Given the description of an element on the screen output the (x, y) to click on. 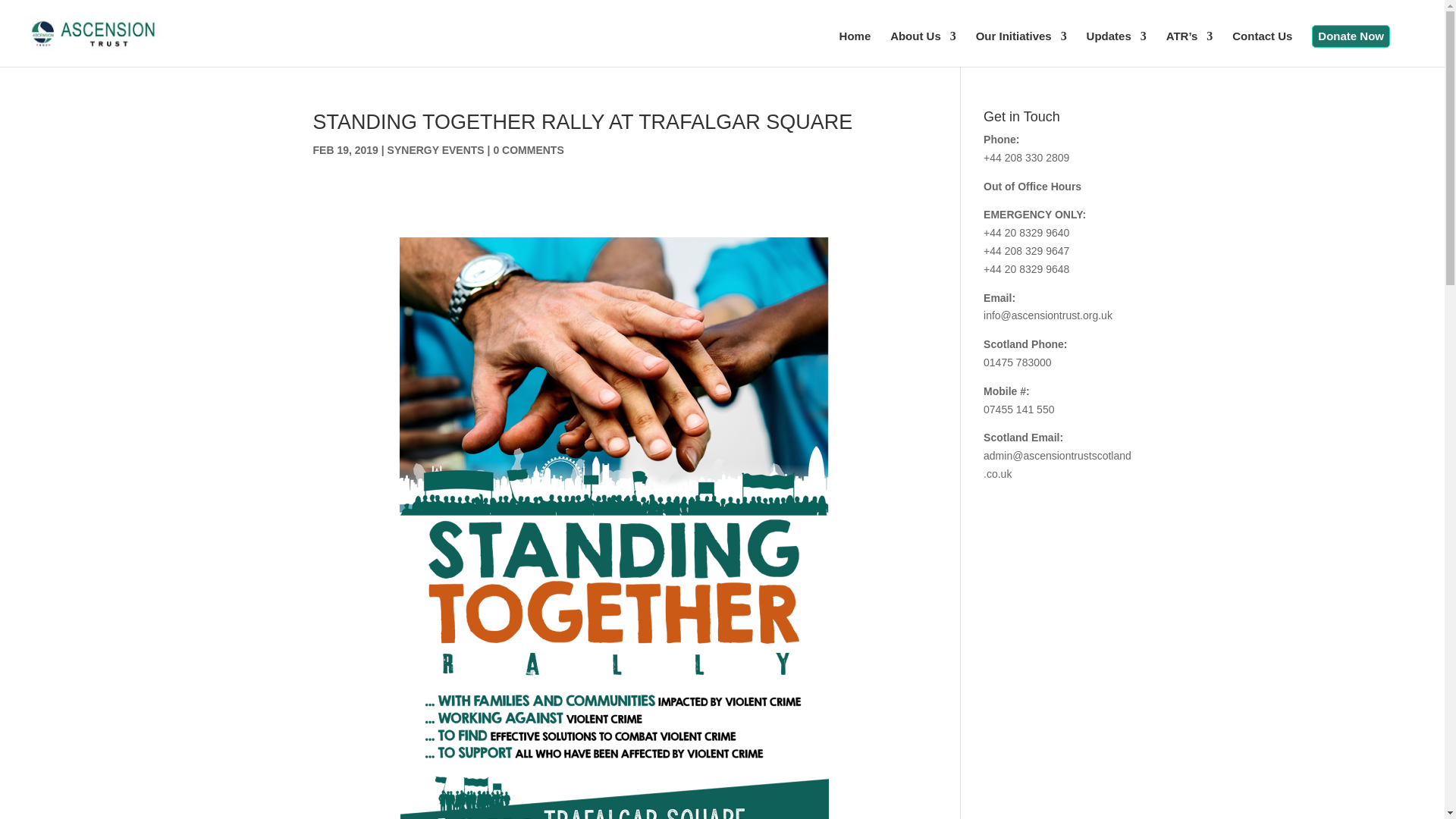
About Us (922, 48)
Updates (1116, 48)
Donate Now (1350, 36)
Our Initiatives (1021, 48)
Contact Us (1261, 48)
Home (855, 48)
